Given the description of an element on the screen output the (x, y) to click on. 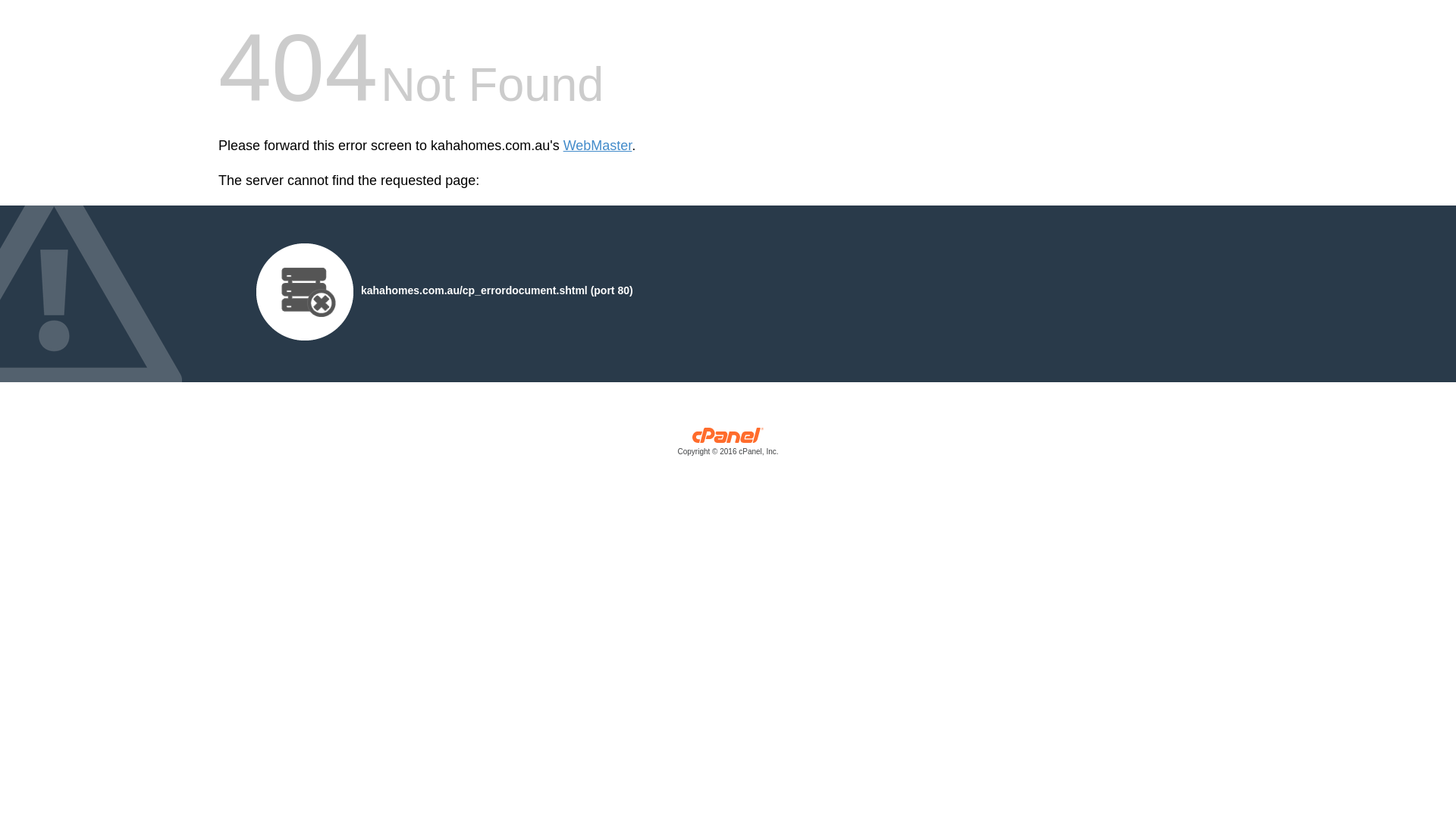
WebMaster Element type: text (597, 145)
